Given the description of an element on the screen output the (x, y) to click on. 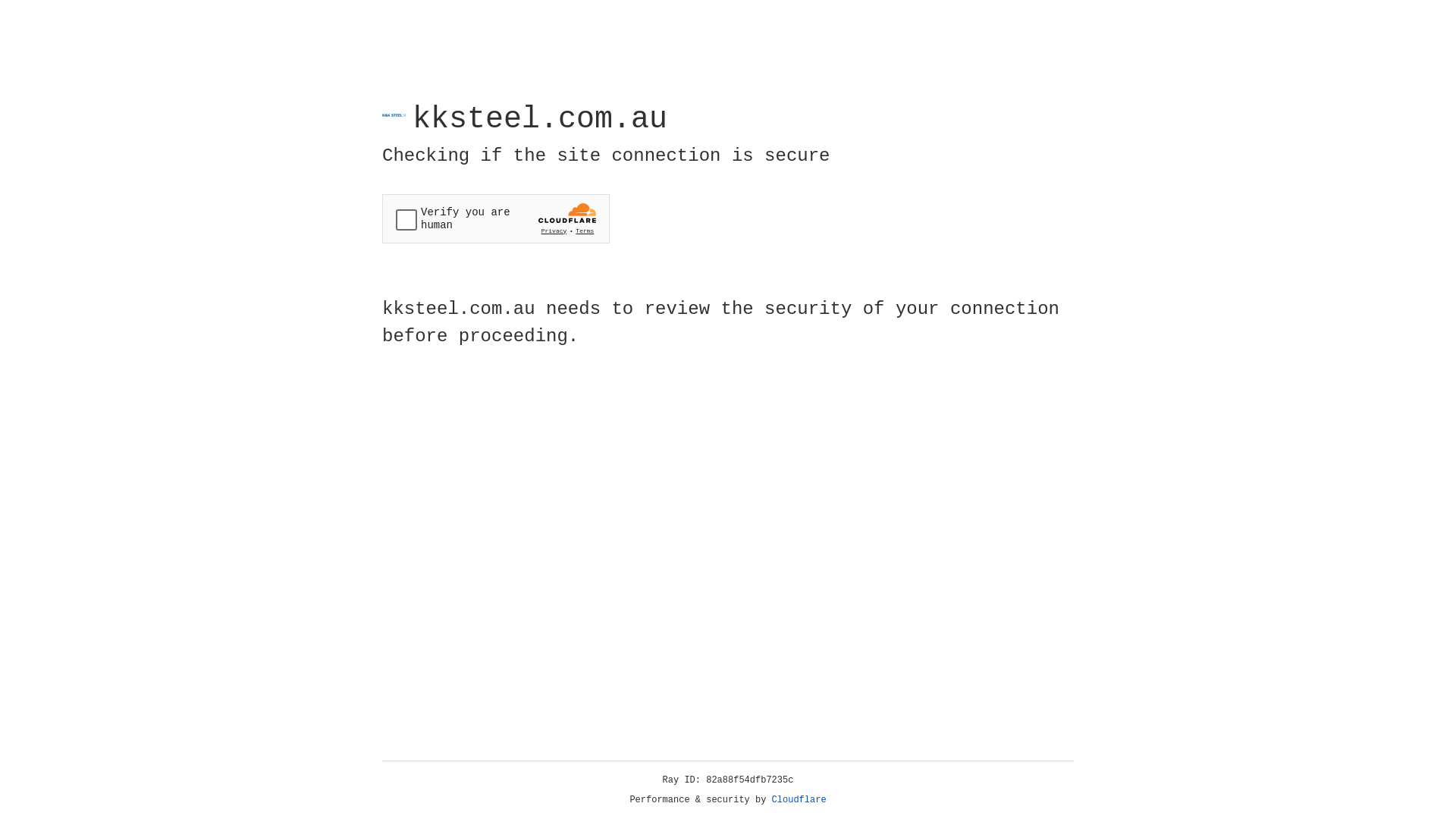
Widget containing a Cloudflare security challenge Element type: hover (495, 218)
Cloudflare Element type: text (798, 799)
